Given the description of an element on the screen output the (x, y) to click on. 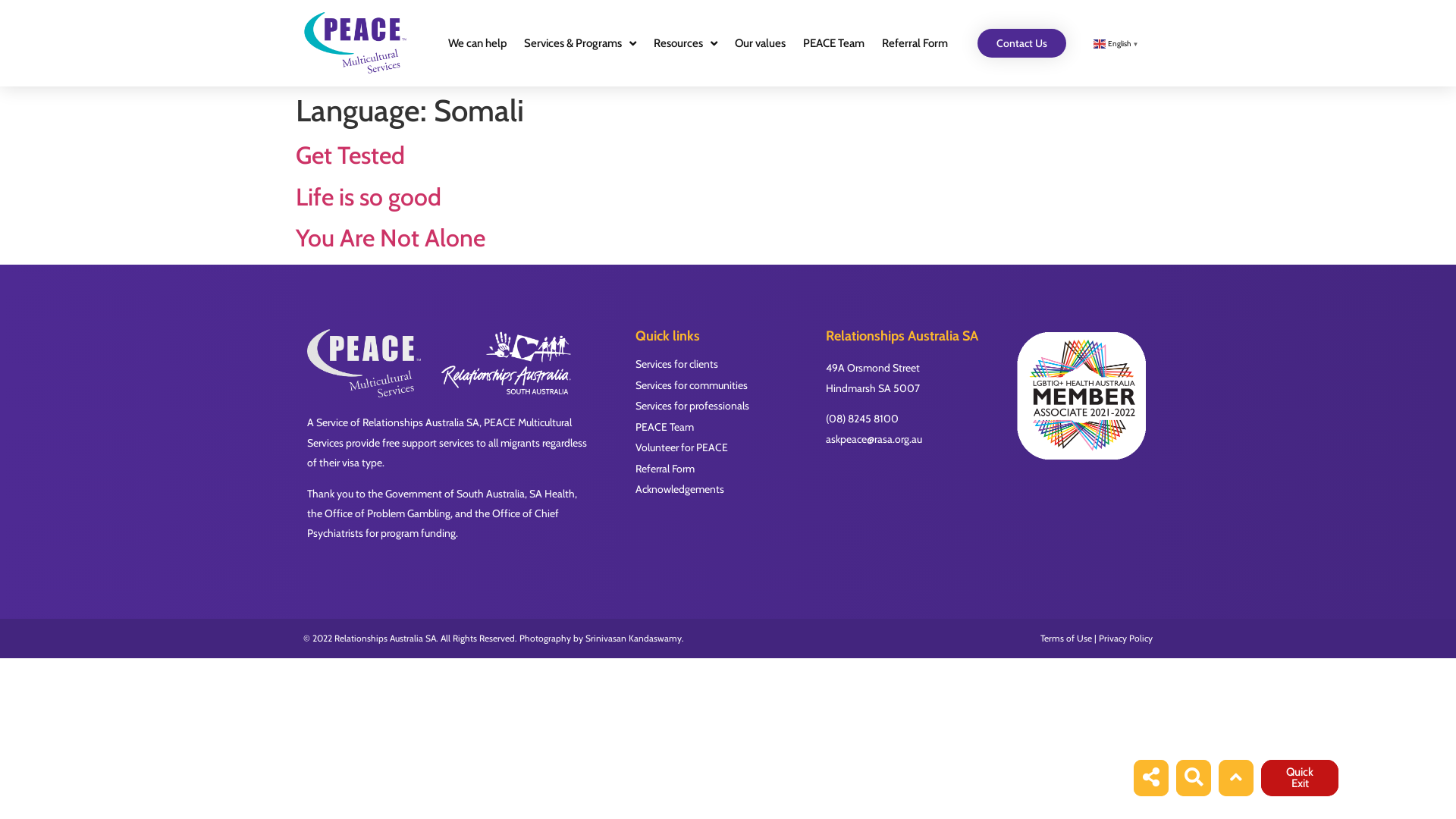
You Are Not Alone Element type: text (390, 237)
Services for clients Element type: text (719, 364)
Services for communities Element type: text (719, 385)
Life is so good Element type: text (368, 196)
Privacy Policy Element type: text (1125, 637)
Acknowledgements Element type: text (719, 489)
(08) 8245 8100 Element type: text (861, 418)
Services for professionals Element type: text (719, 406)
Terms of Use Element type: text (1066, 637)
Resources Element type: text (685, 43)
Contact Us Element type: text (1021, 42)
Referral Form Element type: text (914, 43)
Our values Element type: text (759, 43)
Get Tested Element type: text (349, 154)
askpeace@rasa.org.au Element type: text (873, 438)
Referral Form Element type: text (719, 469)
We can help Element type: text (477, 43)
Quick Exit Element type: text (1299, 777)
PEACE Team Element type: text (719, 427)
Services & Programs Element type: text (580, 43)
PEACE Team Element type: text (833, 43)
Volunteer for PEACE Element type: text (719, 448)
